Given the description of an element on the screen output the (x, y) to click on. 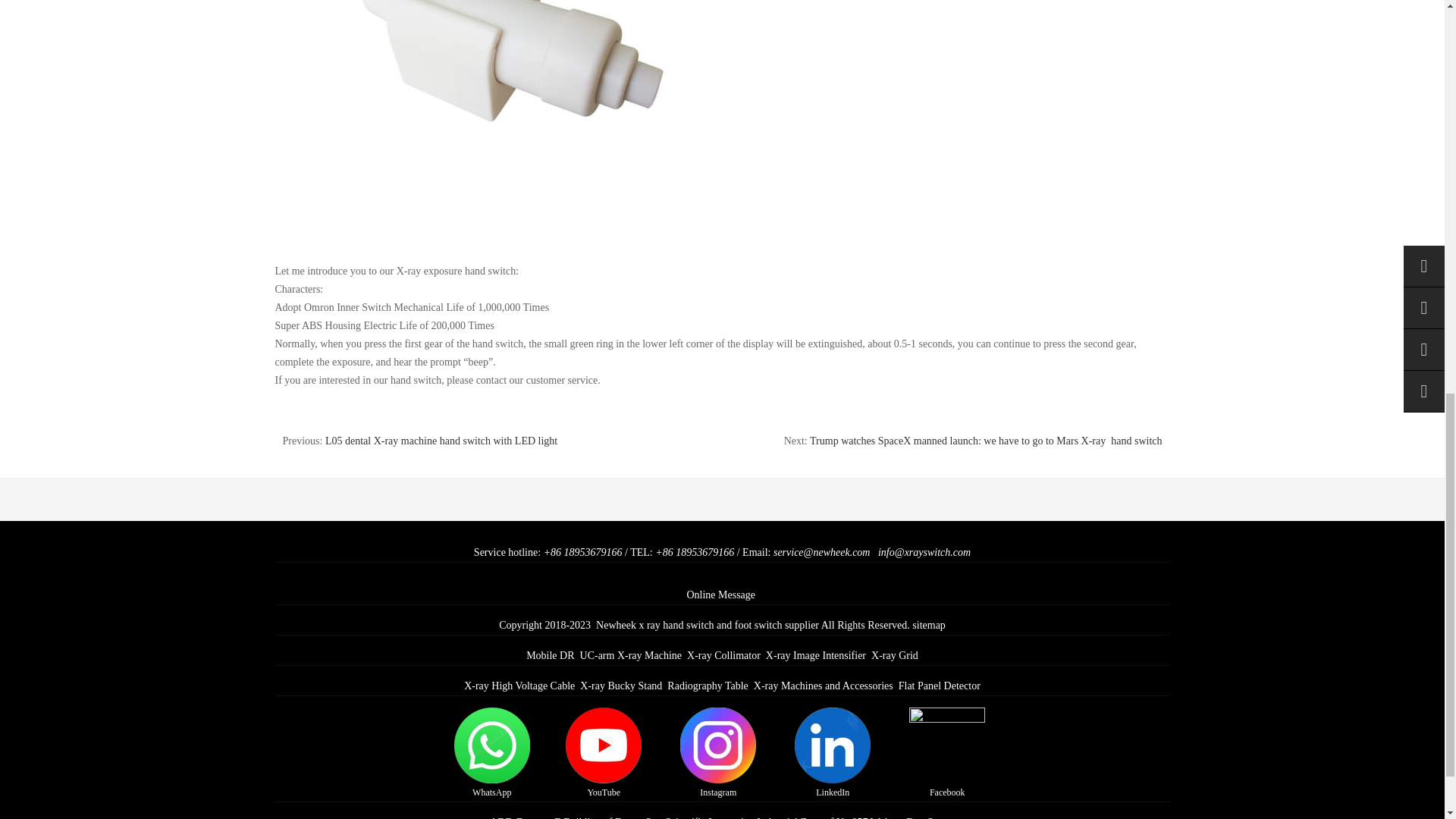
L05 dental X-ray machine hand switch with LED light (440, 440)
sitemap (928, 624)
Mobile DR (549, 655)
Online Message (720, 594)
